Given the description of an element on the screen output the (x, y) to click on. 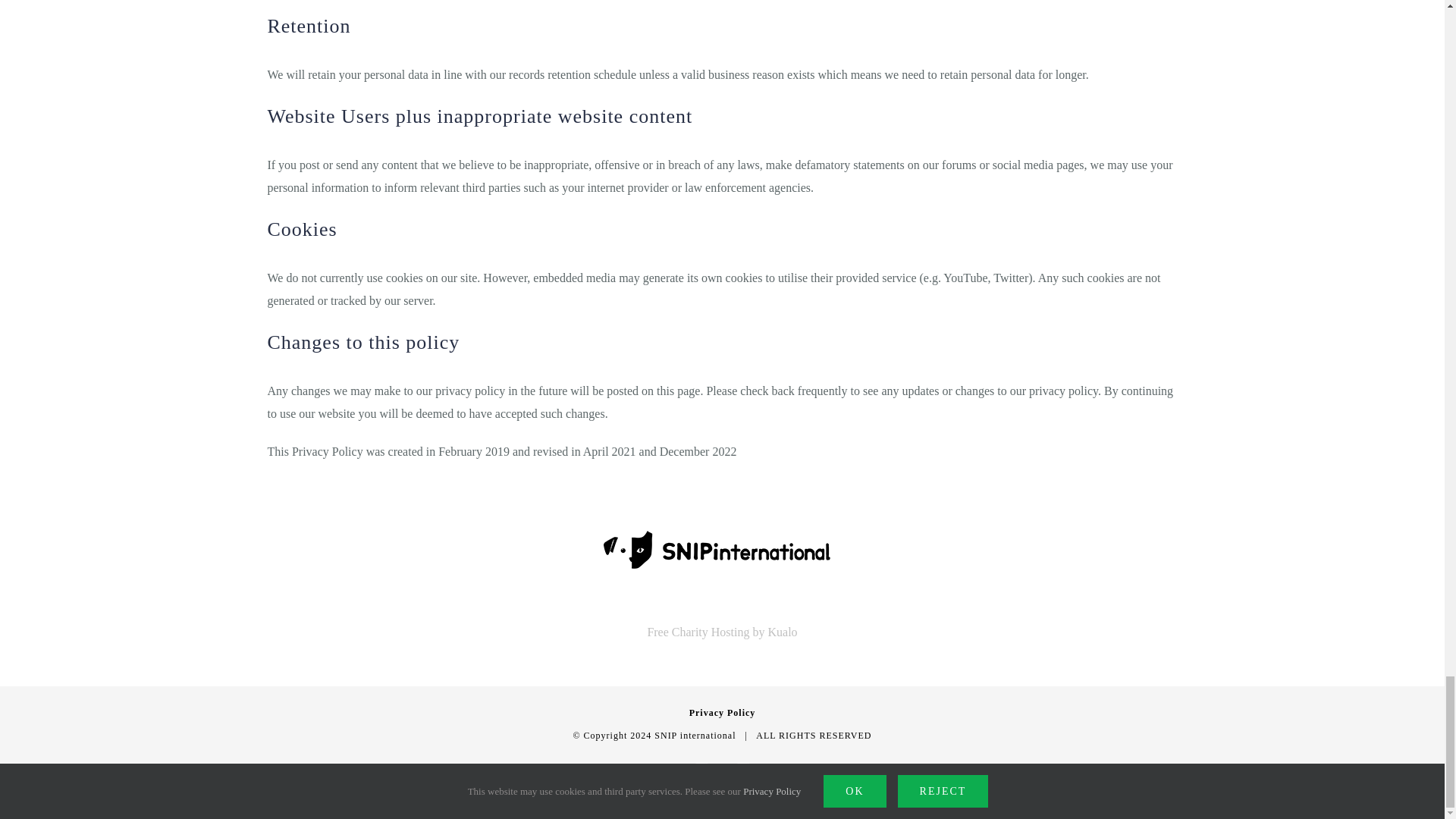
Free Charity Hosting (721, 631)
Facebook (700, 779)
Email (743, 779)
